Given the description of an element on the screen output the (x, y) to click on. 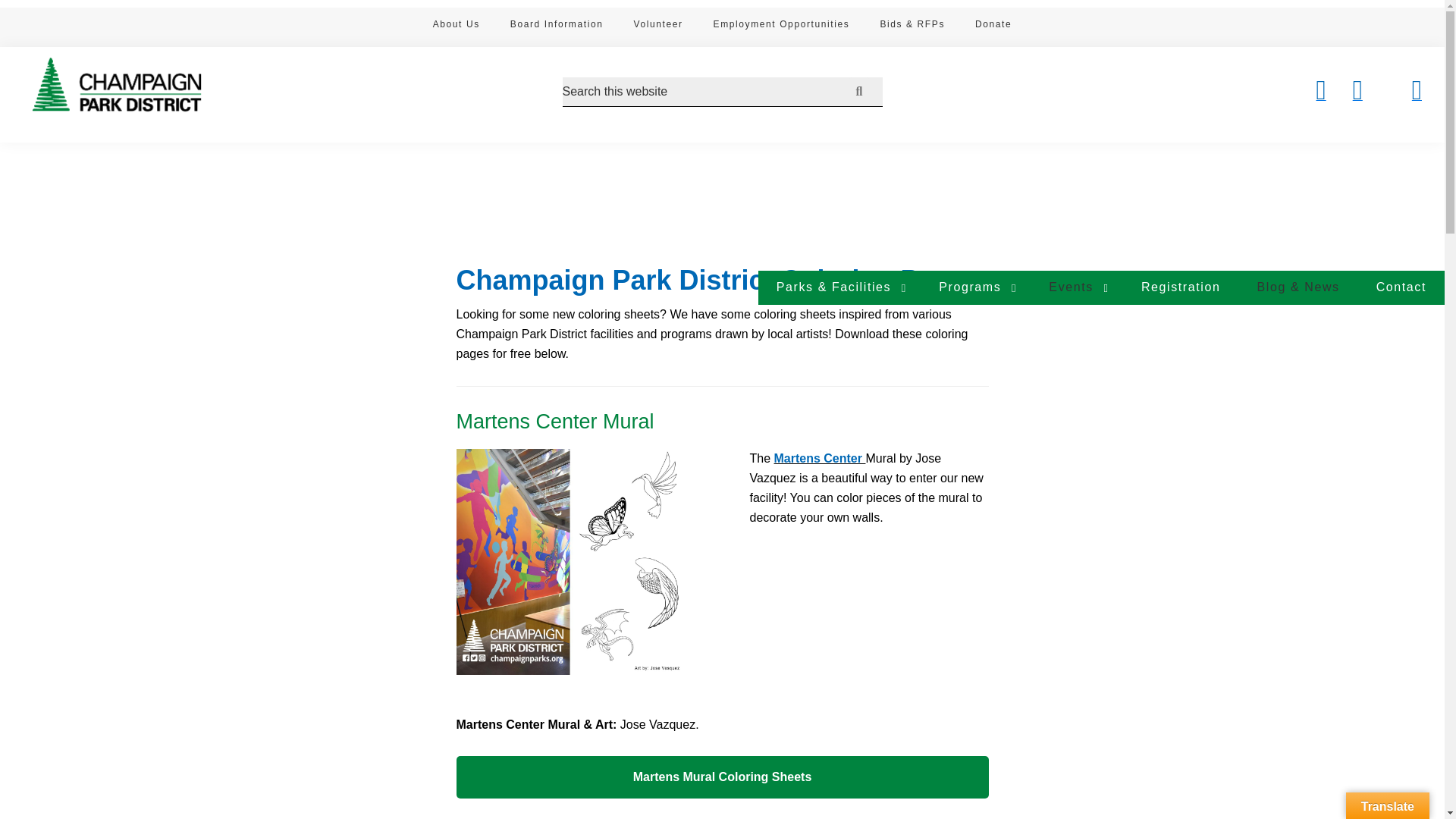
Volunteer (657, 26)
About Us (456, 26)
Board Information (556, 26)
Donate (992, 26)
Employment Opportunities (781, 26)
